Given the description of an element on the screen output the (x, y) to click on. 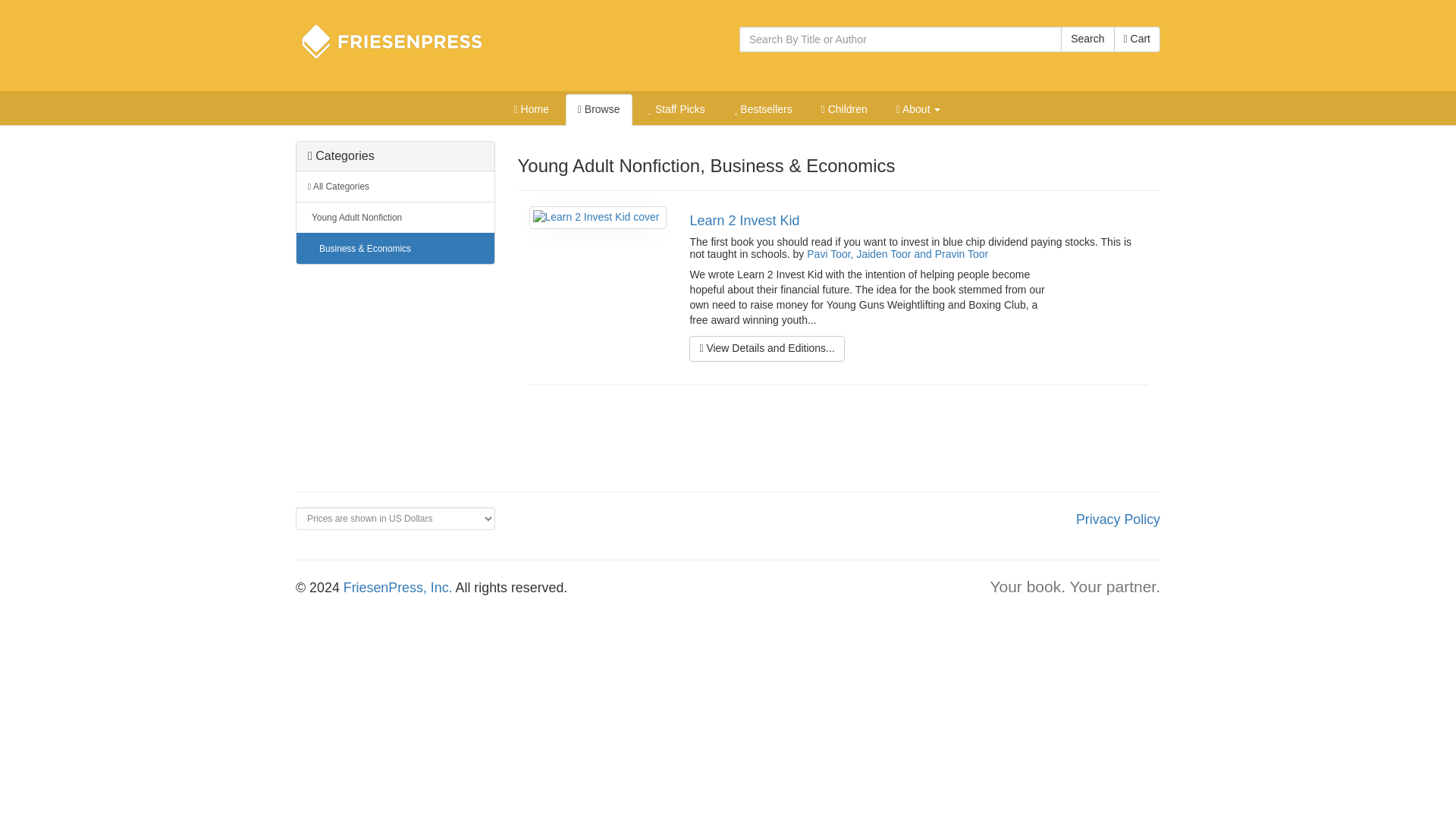
All Categories (396, 186)
Browse (598, 110)
Children (844, 110)
Home (531, 110)
Pavi Toor, Jaiden Toor and Pravin Toor (897, 254)
View Learn 2 Invest Kid (766, 348)
Staff Picks (676, 110)
About (918, 110)
Cart (1136, 39)
FriesenPress, Inc. (397, 587)
Pavi Toor, Jaiden Toor and Pravin Toor (897, 254)
Search (1087, 39)
FriesenPress (401, 40)
Learn 2 Invest Kid (743, 220)
Privacy Policy (1117, 519)
